Given the description of an element on the screen output the (x, y) to click on. 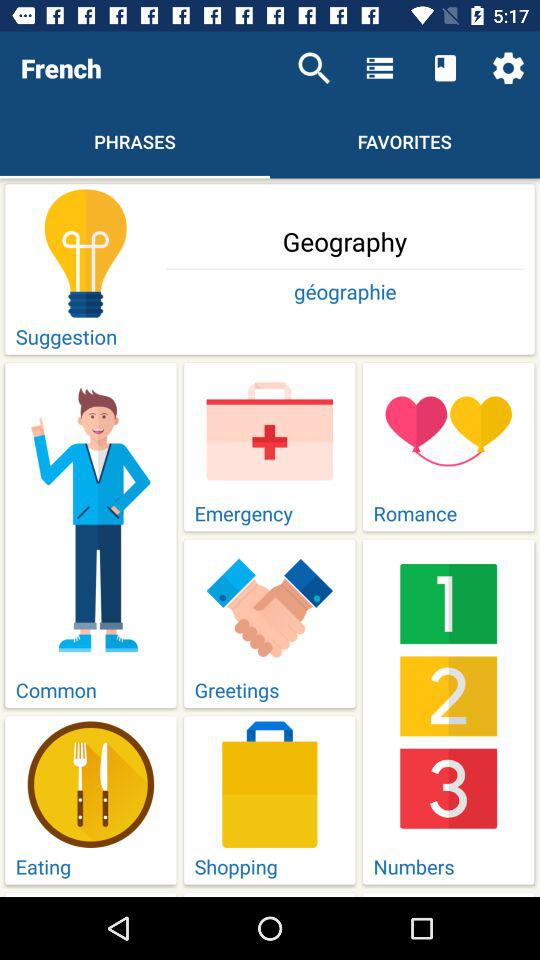
press the item to the right of the french (313, 67)
